Given the description of an element on the screen output the (x, y) to click on. 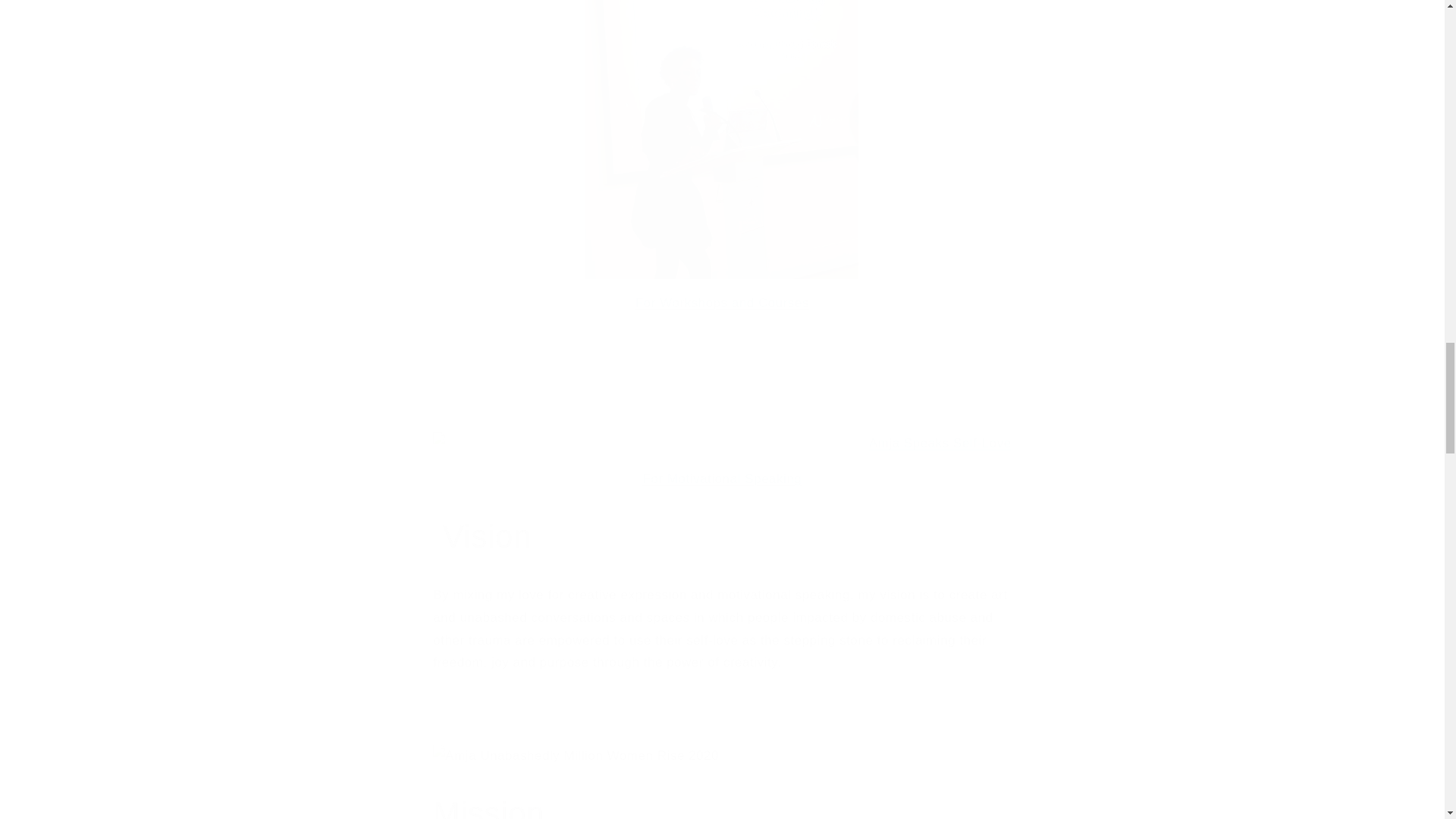
A Heart To Hold (721, 443)
Amja Unabashedly's Workshops and Courses (721, 302)
